Given the description of an element on the screen output the (x, y) to click on. 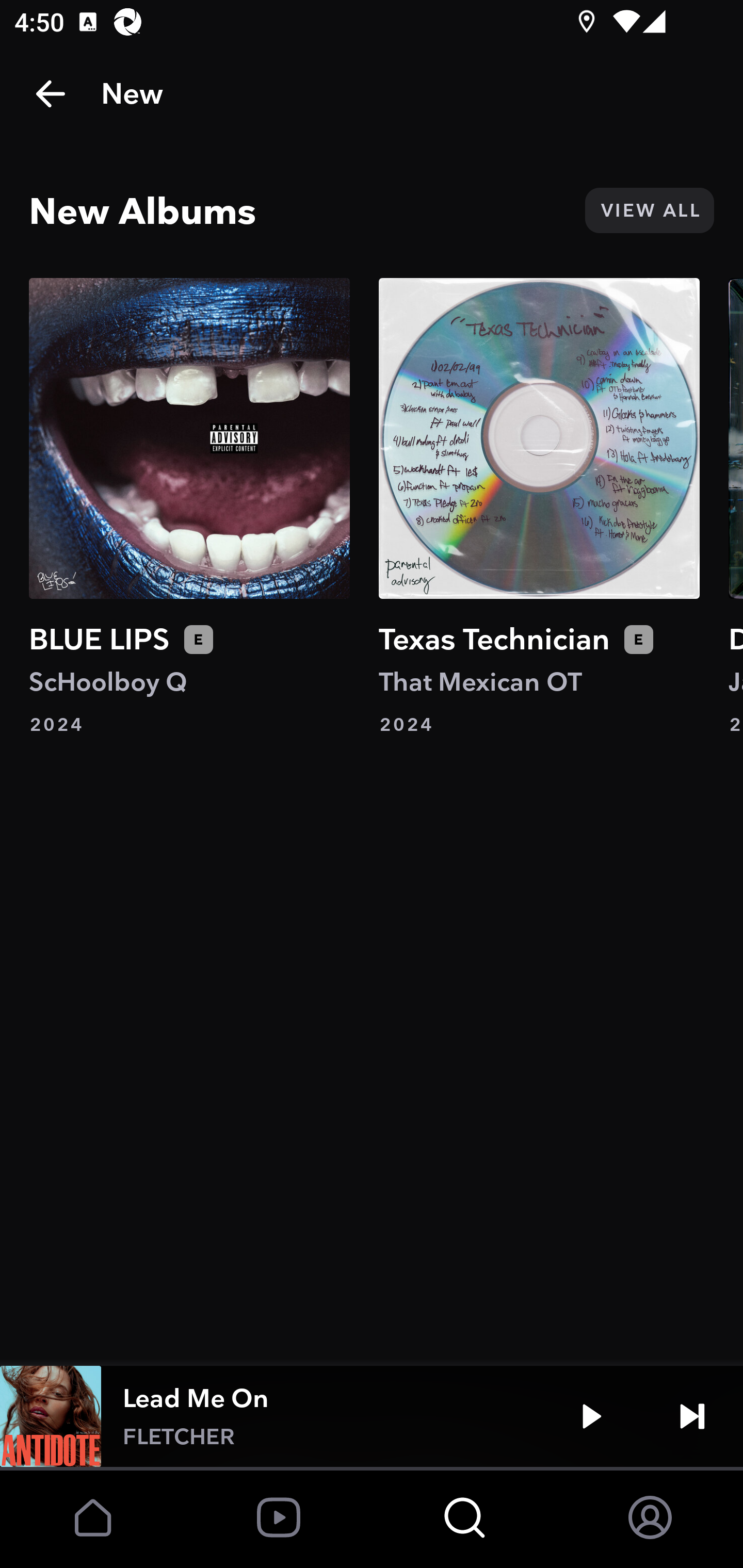
VIEW ALL (649, 210)
BLUE LIPS ScHoolboy Q 2024 (188, 506)
Texas Technician That Mexican OT 2024 (538, 506)
Lead Me On FLETCHER Play (371, 1416)
Play (590, 1416)
